Given the description of an element on the screen output the (x, y) to click on. 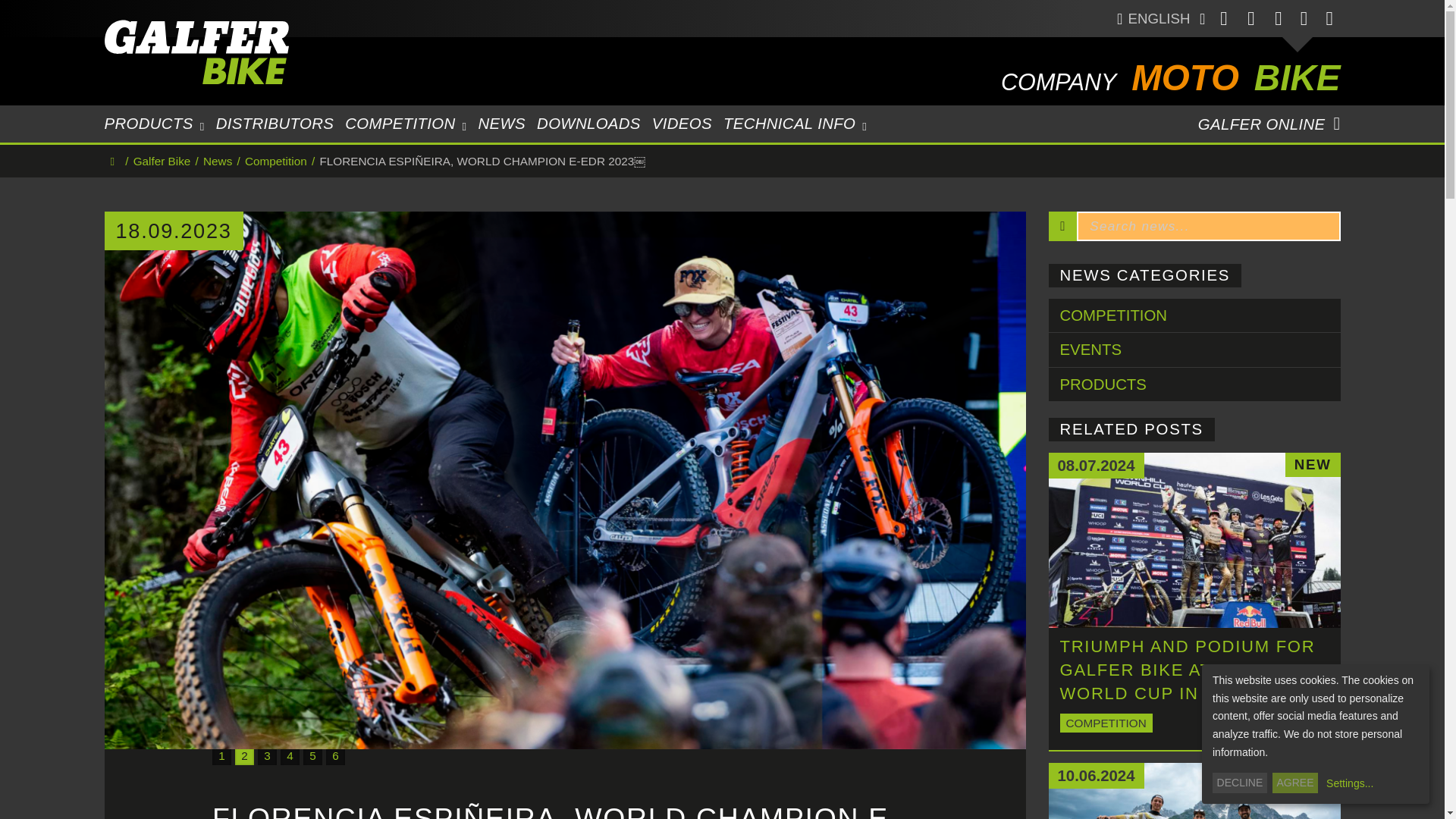
6 (335, 755)
Galfer Bike (217, 51)
4 (290, 755)
5 (311, 755)
TECHNICAL INFO (794, 123)
MOTO (1185, 77)
3 (266, 755)
VIDEOS (681, 123)
PRODUCTS (154, 123)
Competition (275, 160)
